Given the description of an element on the screen output the (x, y) to click on. 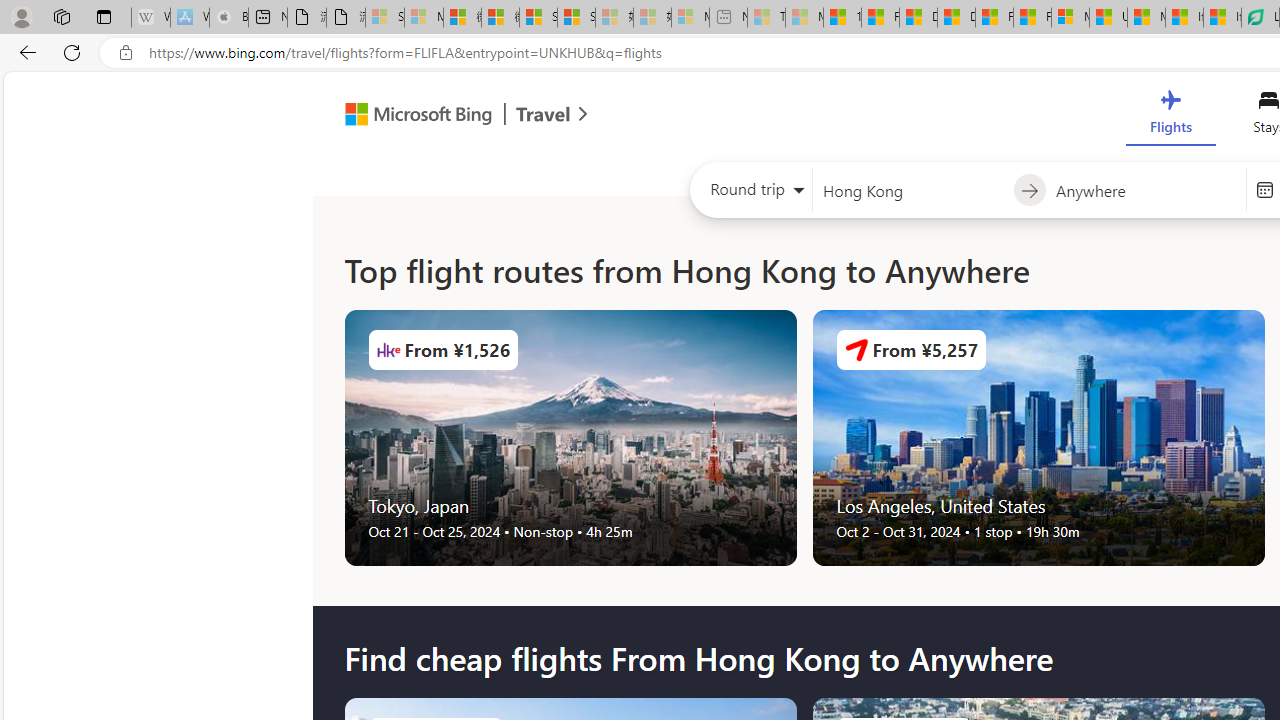
Marine life - MSN - Sleeping (804, 17)
Class: msft-travel-logo (543, 114)
Buy iPad - Apple - Sleeping (228, 17)
Food and Drink - MSN (879, 17)
Leaving from? (912, 190)
Microsoft Bing Travel (445, 116)
US Heat Deaths Soared To Record High Last Year (1108, 17)
Drinking tea every day is proven to delay biological aging (956, 17)
